Given the description of an element on the screen output the (x, y) to click on. 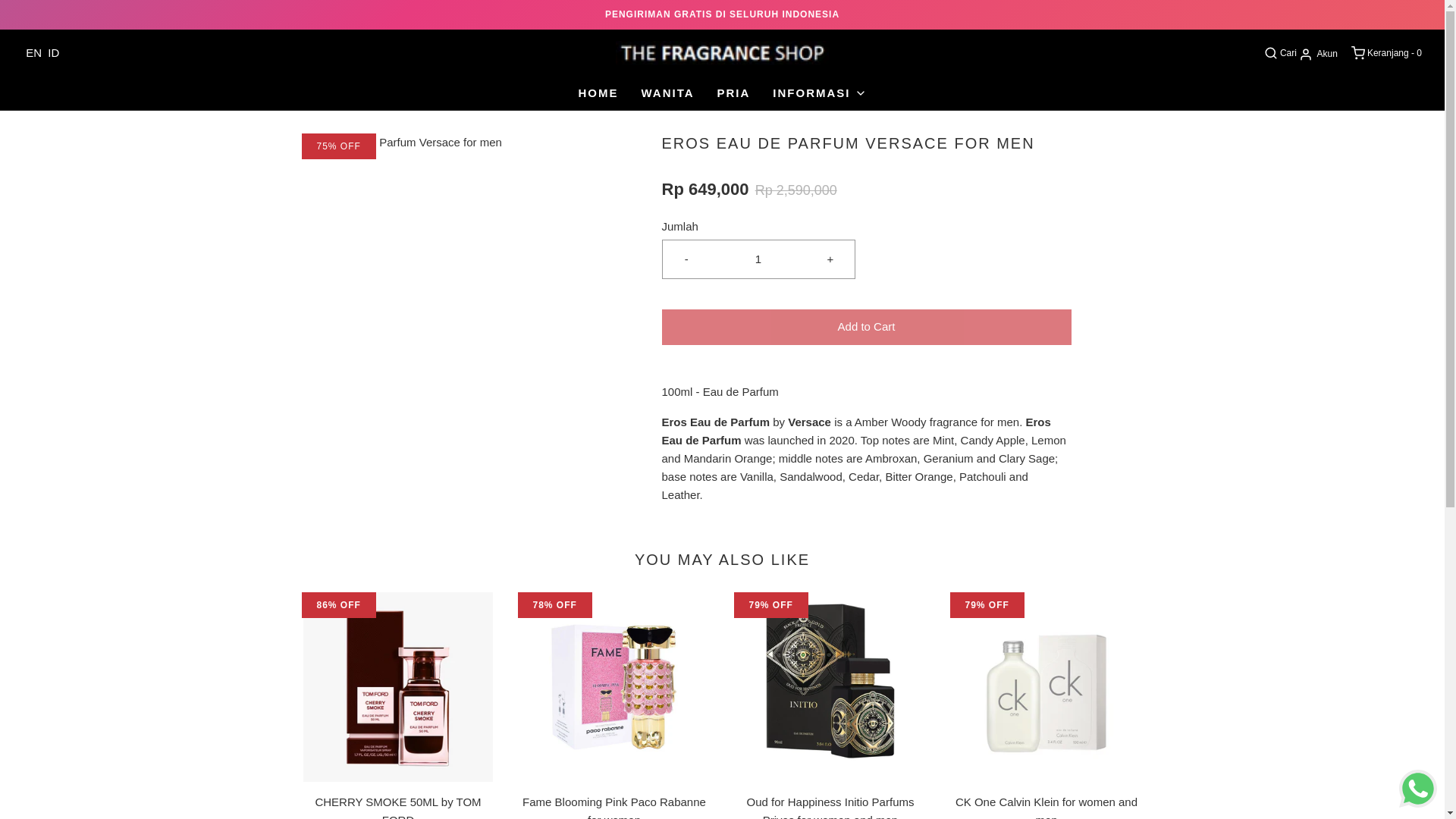
Search (1423, 5)
Cari (1279, 52)
PRIA (734, 92)
Oud for Happiness Initio Parfums Prives for women and men (830, 687)
Cari (1279, 52)
ID (53, 51)
WANITA (667, 92)
Keranjang (1385, 52)
INFORMASI (819, 92)
CK One Calvin Klein for women and men (1045, 687)
Fame Blooming Pink Paco Rabanne for women (613, 687)
Akun (1317, 53)
CHERRY SMOKE 50ML by TOM FORD (398, 687)
1 (758, 259)
EN (34, 51)
